Given the description of an element on the screen output the (x, y) to click on. 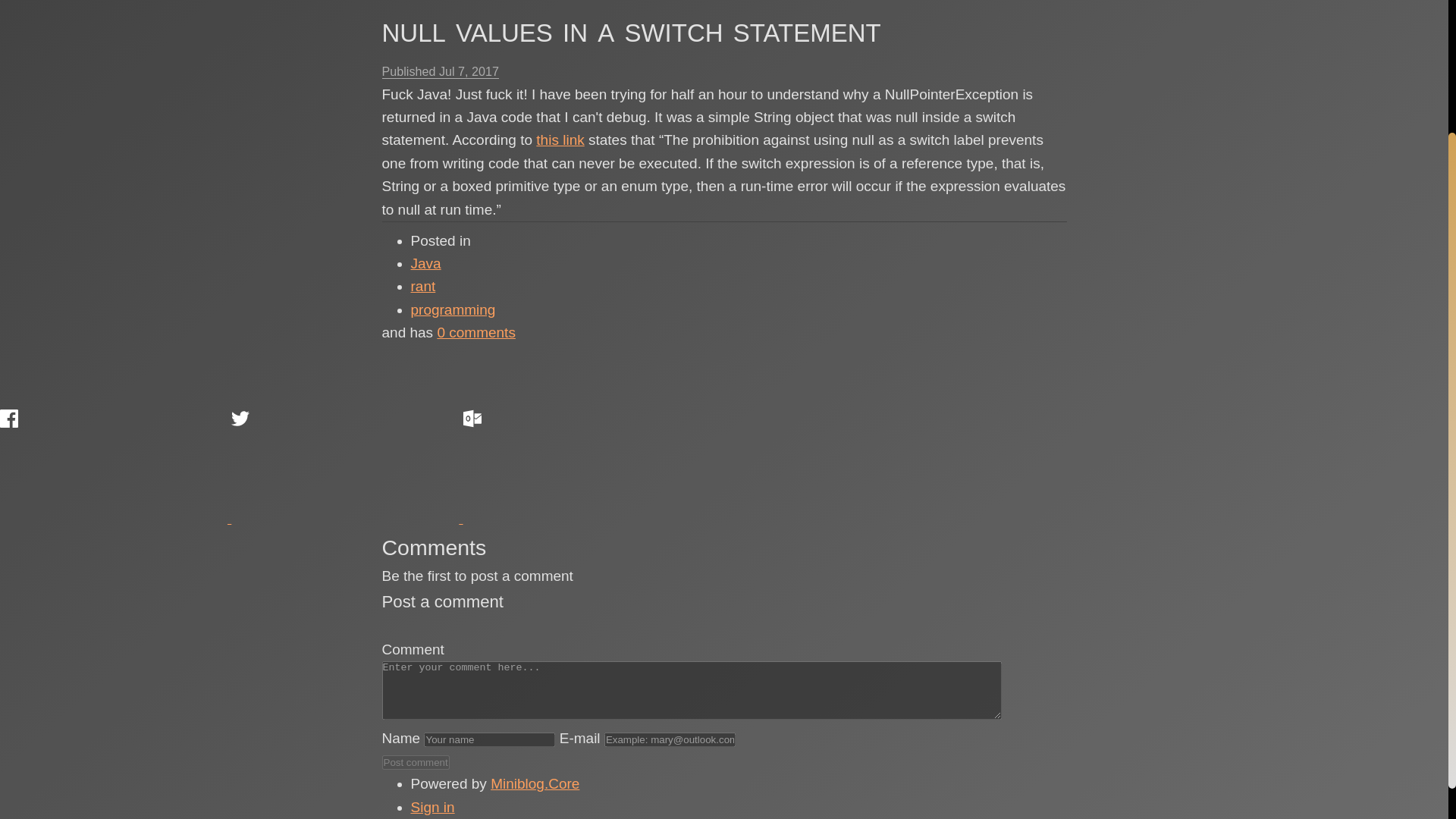
Share on Twitter (344, 466)
Why doesn't String switch statement support a null case? (559, 139)
Share on Facebook (113, 466)
Post comment (415, 762)
Go to the comments section (475, 332)
Email (576, 466)
